Given the description of an element on the screen output the (x, y) to click on. 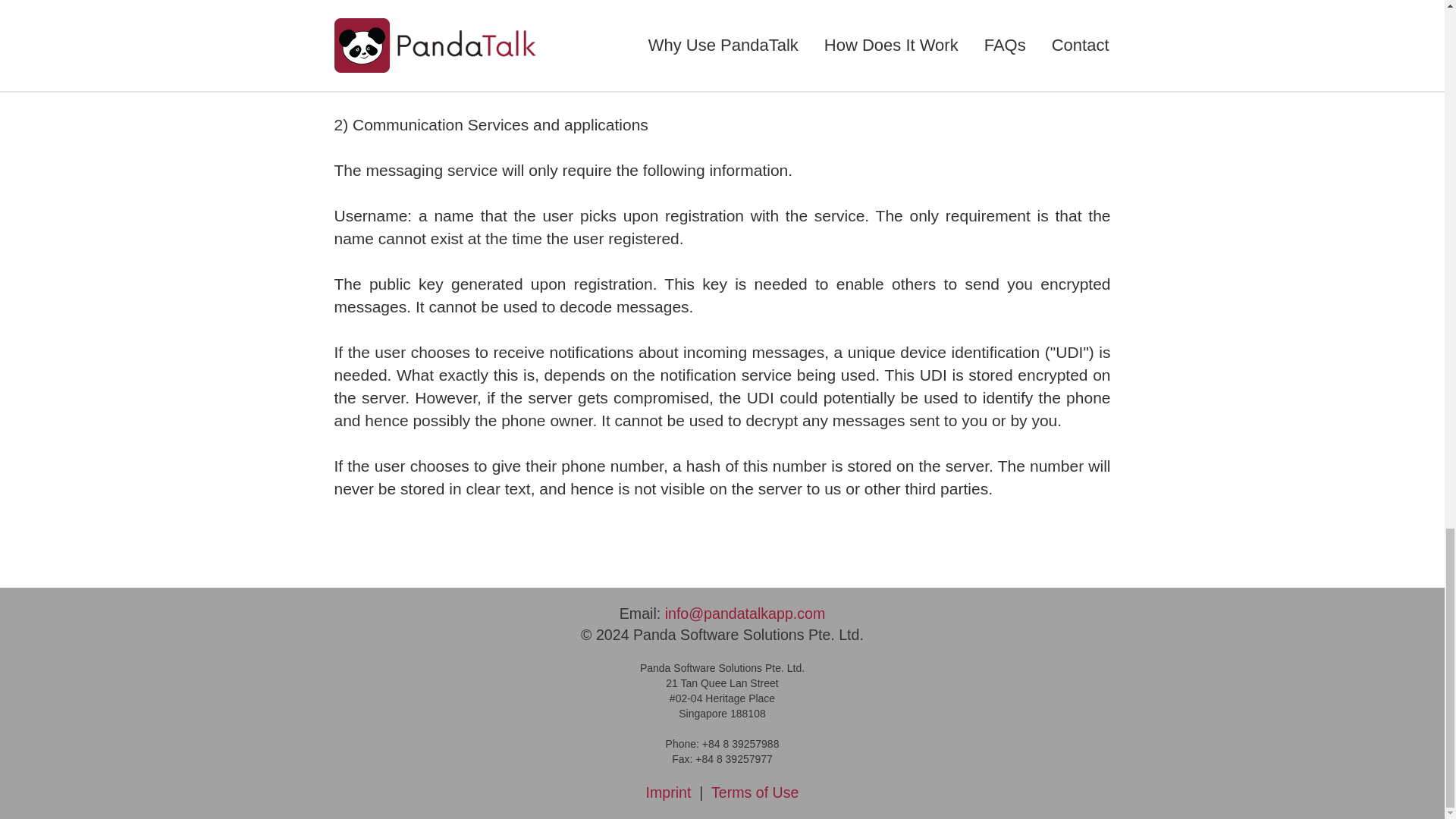
Terms of Use (754, 791)
Imprint (668, 791)
